Given the description of an element on the screen output the (x, y) to click on. 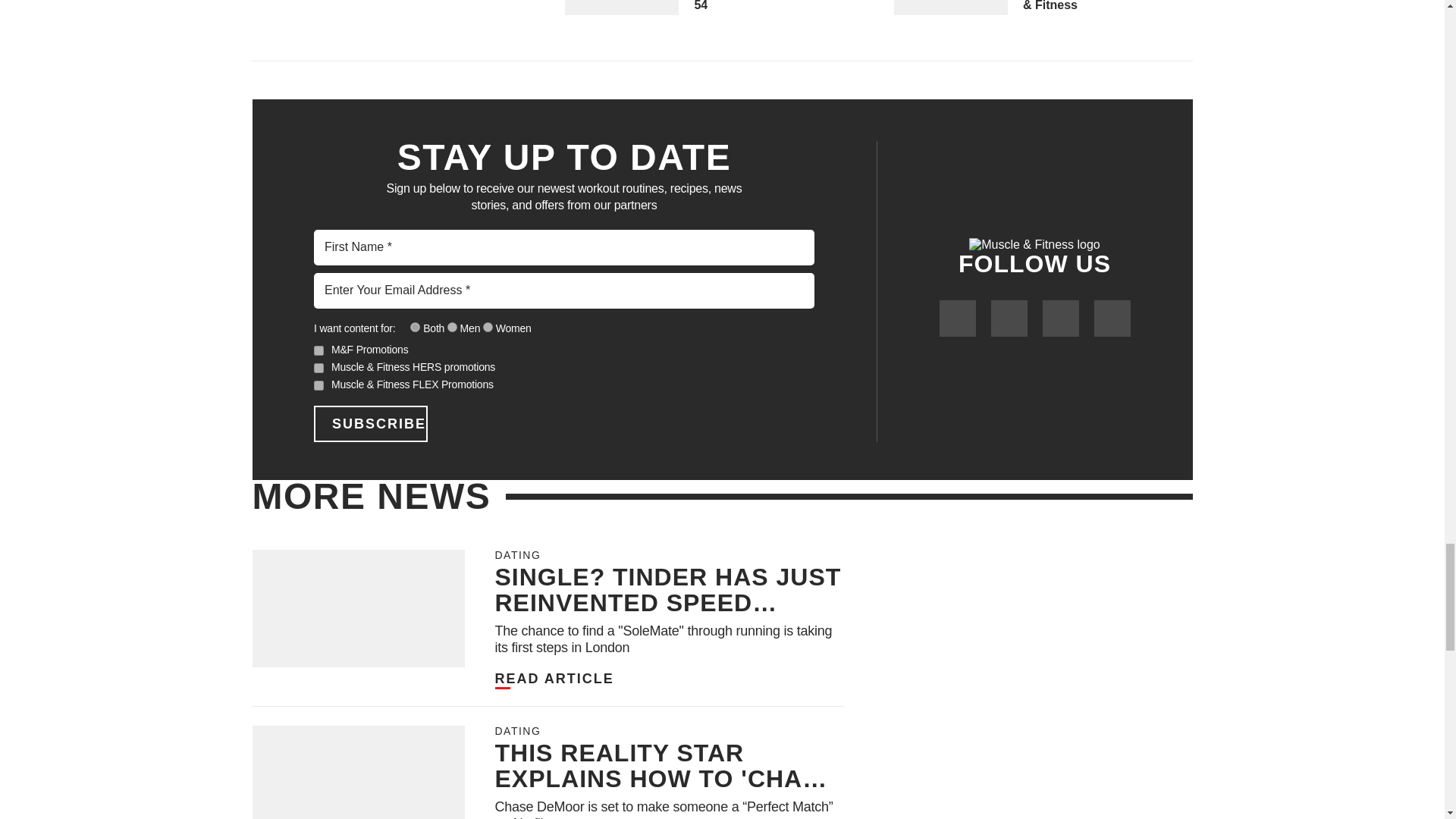
Muscle and Fitness on Pinterest (1111, 318)
755 (415, 327)
759 (488, 327)
757 (451, 327)
Muscle and Fitness on YouTube (1060, 318)
Muscle and Fitness on Twitter (1008, 318)
Muscle and Fitness on Facebook (957, 318)
